Given the description of an element on the screen output the (x, y) to click on. 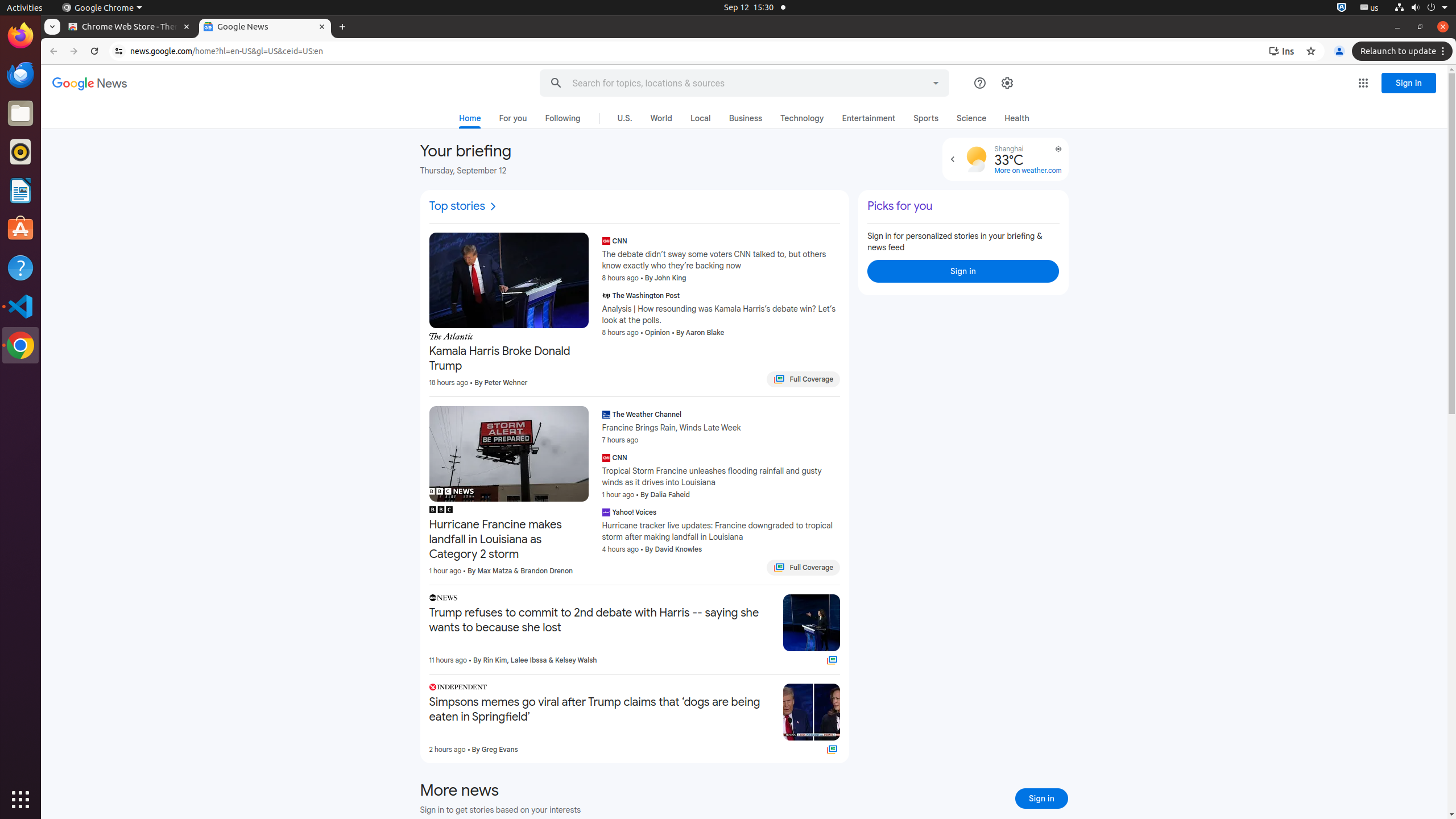
System Element type: menu (1420, 7)
Settings Element type: push-button (1006, 82)
Science Element type: menu-item (971, 118)
You Element type: push-button (1339, 50)
Google News Element type: link (89, 84)
